Given the description of an element on the screen output the (x, y) to click on. 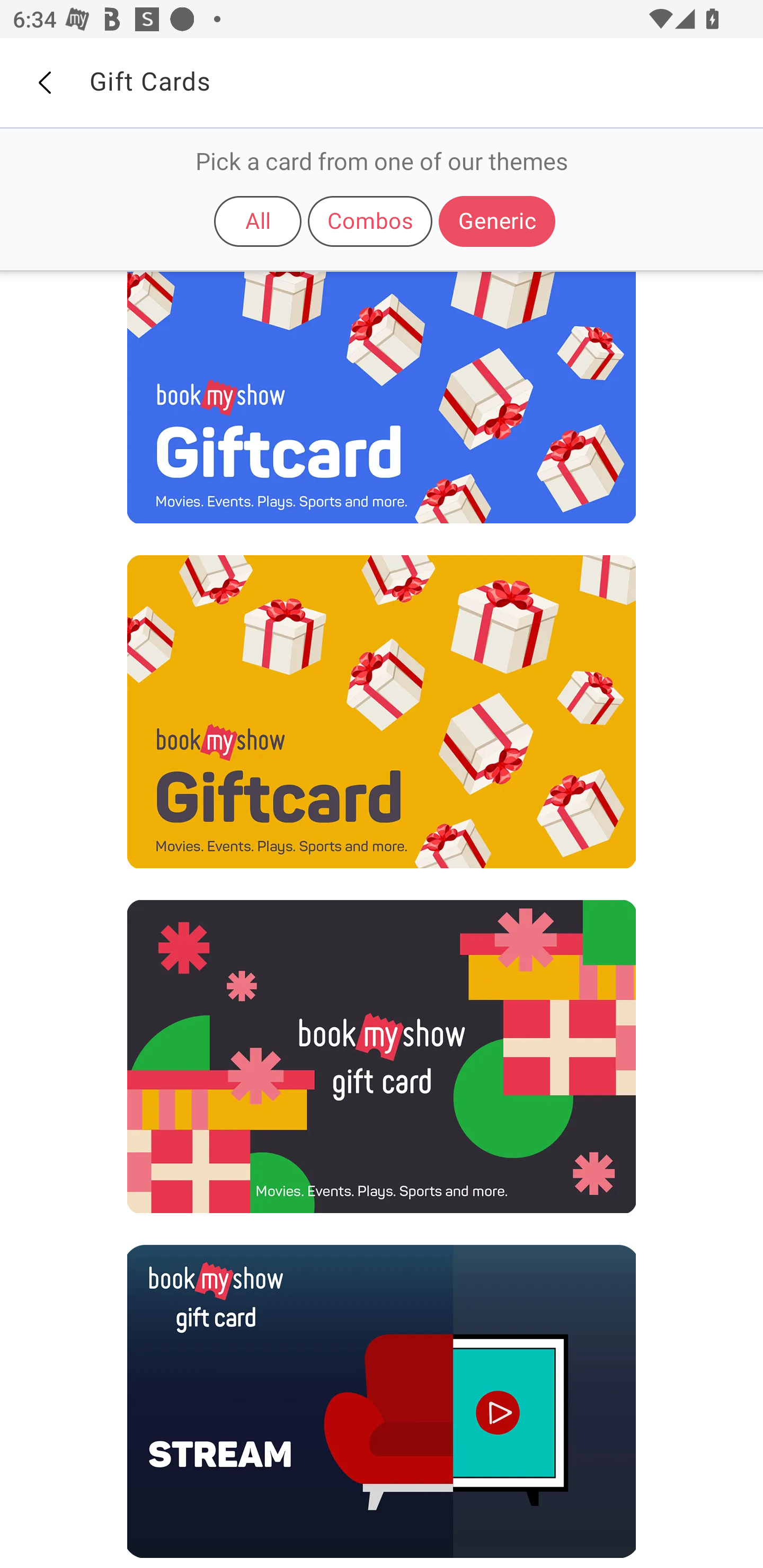
Back (44, 82)
  All   (257, 221)
Combos (369, 221)
Generic (496, 221)
